Given the description of an element on the screen output the (x, y) to click on. 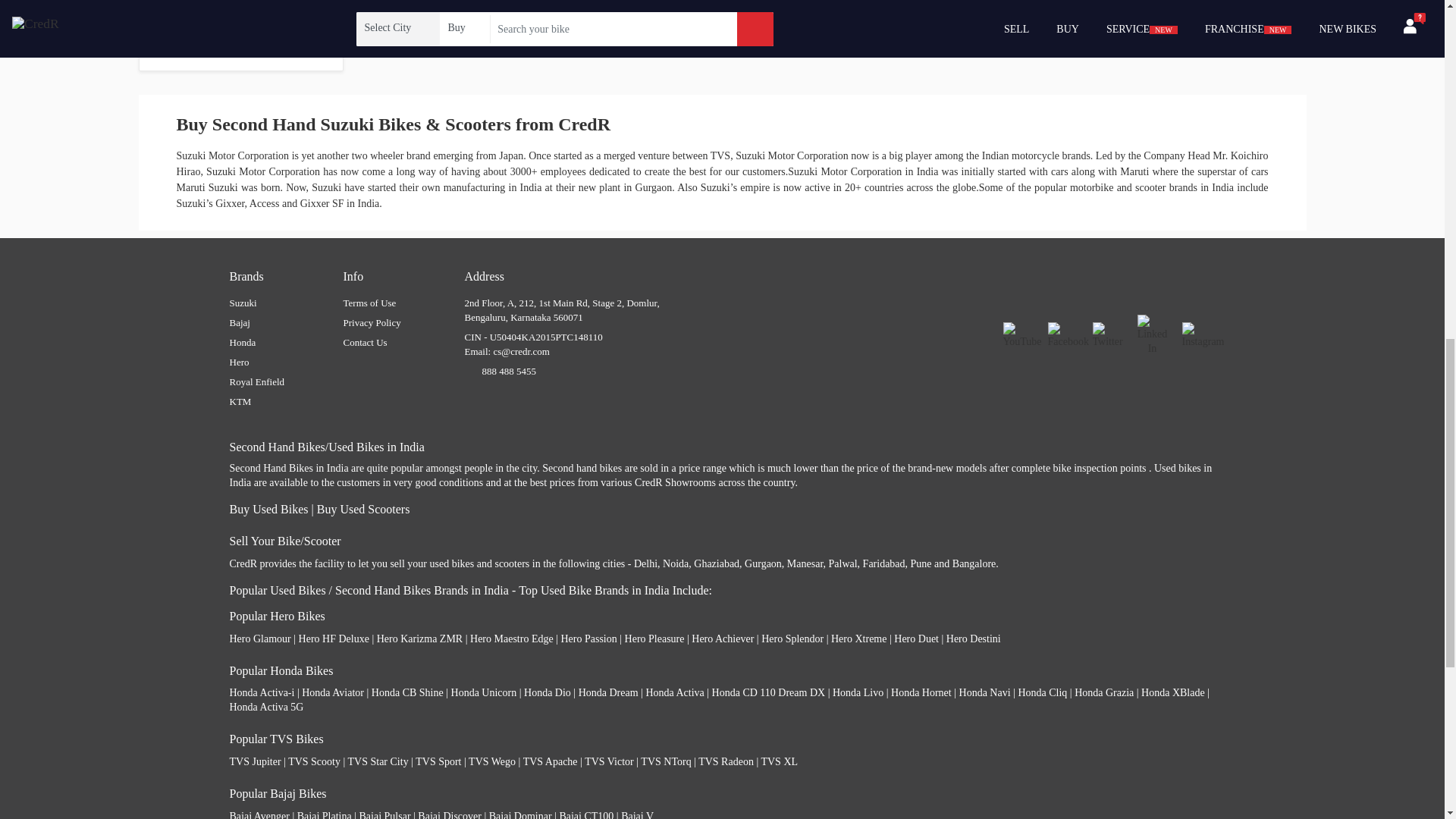
Hero HF Deluxe (333, 637)
Buy Used Scooters (363, 508)
Honda (242, 342)
Hero Splendor (792, 637)
Suzuki (242, 302)
Bajaj (238, 322)
Popular Hero Bikes (276, 615)
888 488 5455 (509, 370)
Hero Glamour (258, 637)
Buy Used Bikes (267, 508)
Hero Maestro Edge (511, 637)
Hero Xtreme (858, 637)
Privacy Policy (371, 322)
Hero Pleasure (654, 637)
Hero (238, 361)
